Given the description of an element on the screen output the (x, y) to click on. 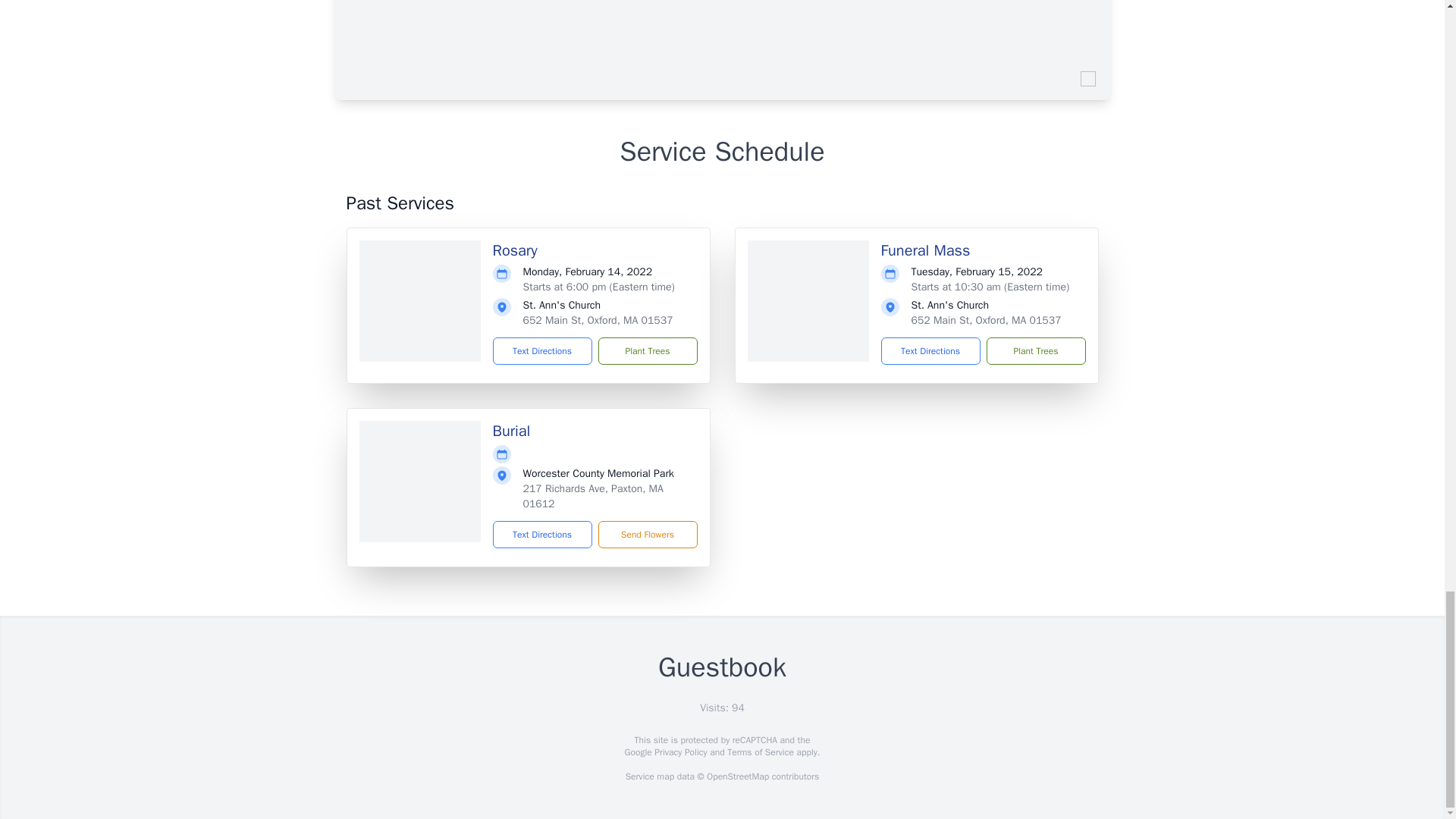
217 Richards Ave, Paxton, MA 01612 (592, 496)
Plant Trees (646, 350)
Text Directions (542, 350)
Terms of Service (759, 752)
Privacy Policy (679, 752)
Send Flowers (646, 533)
Text Directions (929, 350)
Plant Trees (1034, 350)
652 Main St, Oxford, MA 01537 (597, 319)
OpenStreetMap (737, 776)
652 Main St, Oxford, MA 01537 (986, 319)
Text Directions (542, 533)
